Given the description of an element on the screen output the (x, y) to click on. 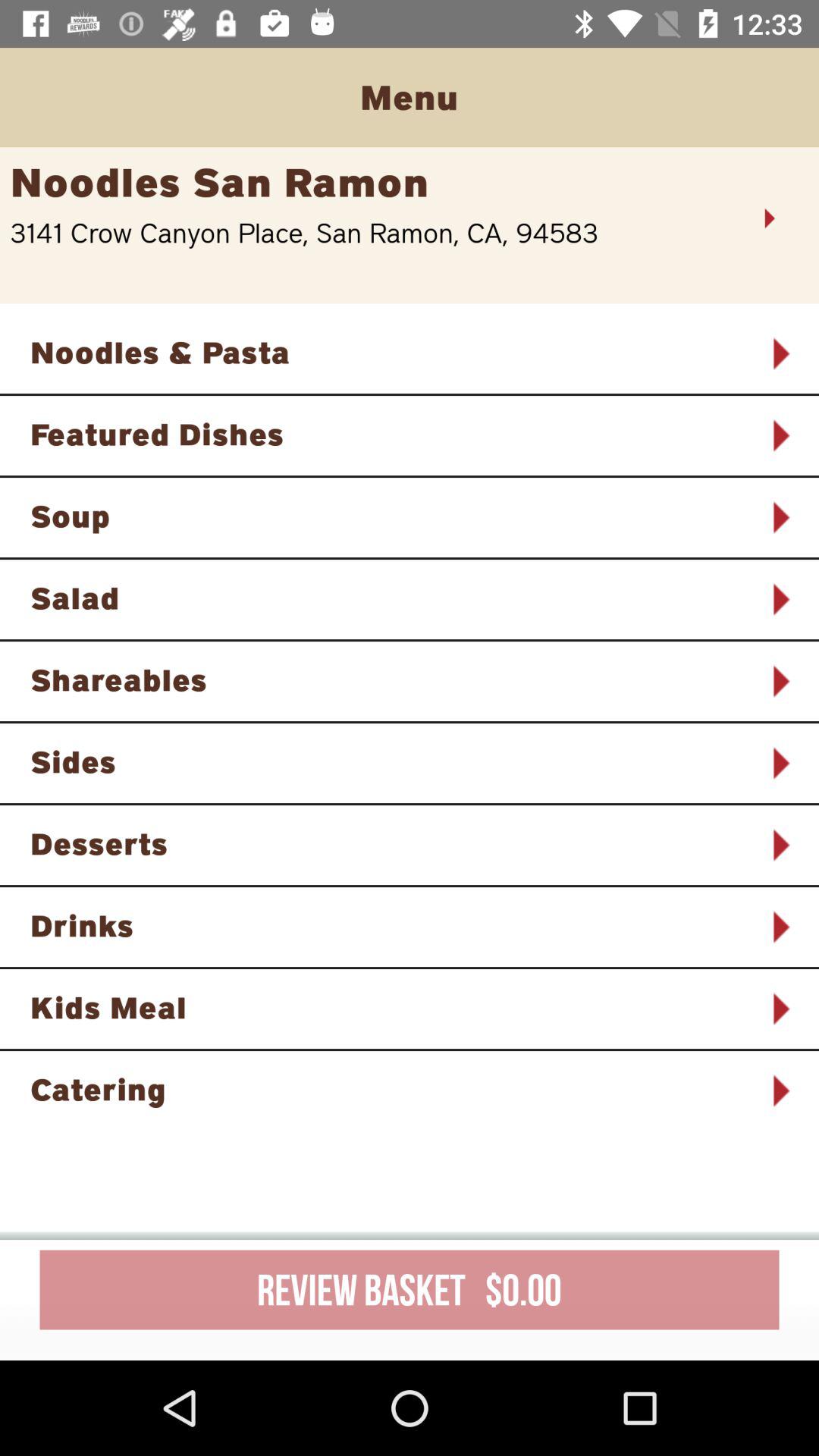
turn off the icon to the right of catering  item (779, 1090)
